Given the description of an element on the screen output the (x, y) to click on. 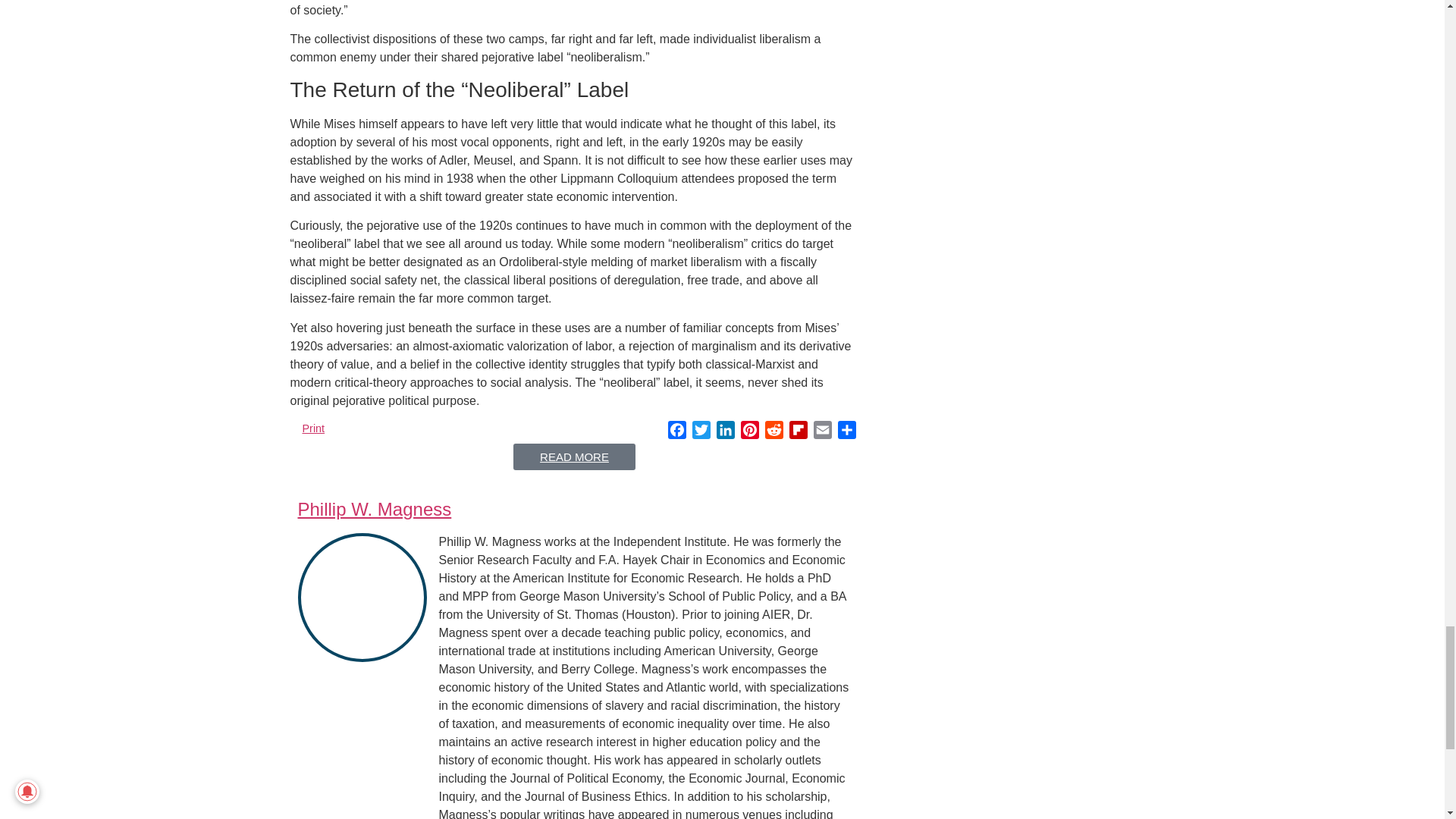
LinkedIn (724, 432)
Email (821, 432)
Reddit (773, 432)
Pinterest (748, 432)
Facebook (675, 432)
Twitter (700, 432)
Flipboard (797, 432)
